Given the description of an element on the screen output the (x, y) to click on. 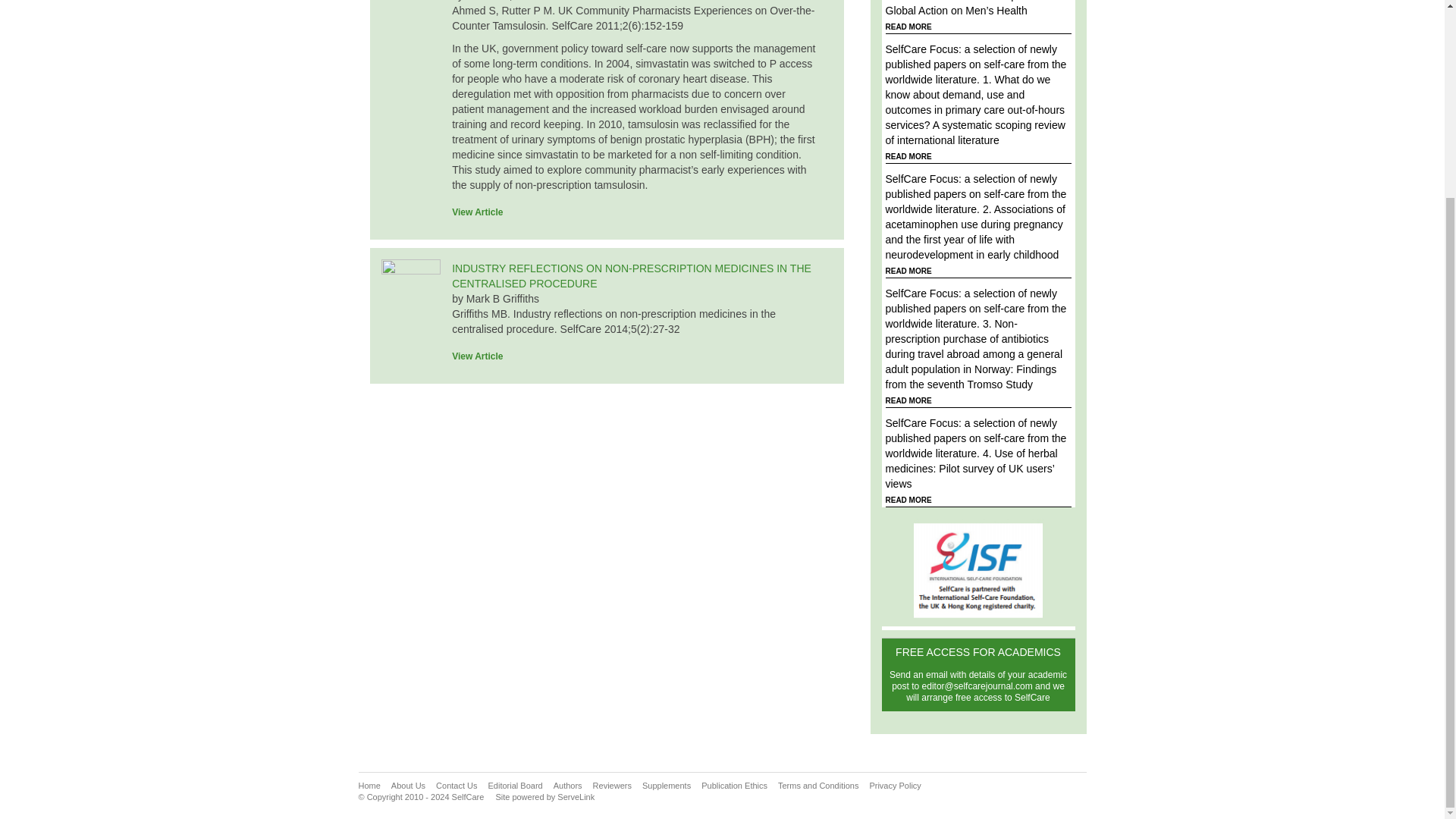
READ MORE (908, 156)
Publication Ethics (734, 785)
Contact Us (456, 785)
Supplements (666, 785)
Terms and Conditions (818, 785)
View Article (482, 356)
READ MORE (908, 400)
